Given the description of an element on the screen output the (x, y) to click on. 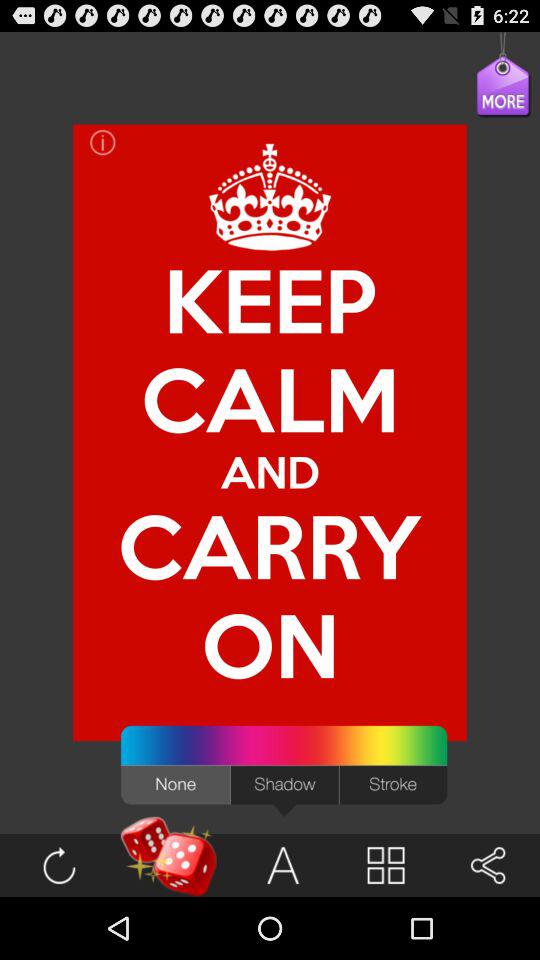
flip until the carry (269, 545)
